Given the description of an element on the screen output the (x, y) to click on. 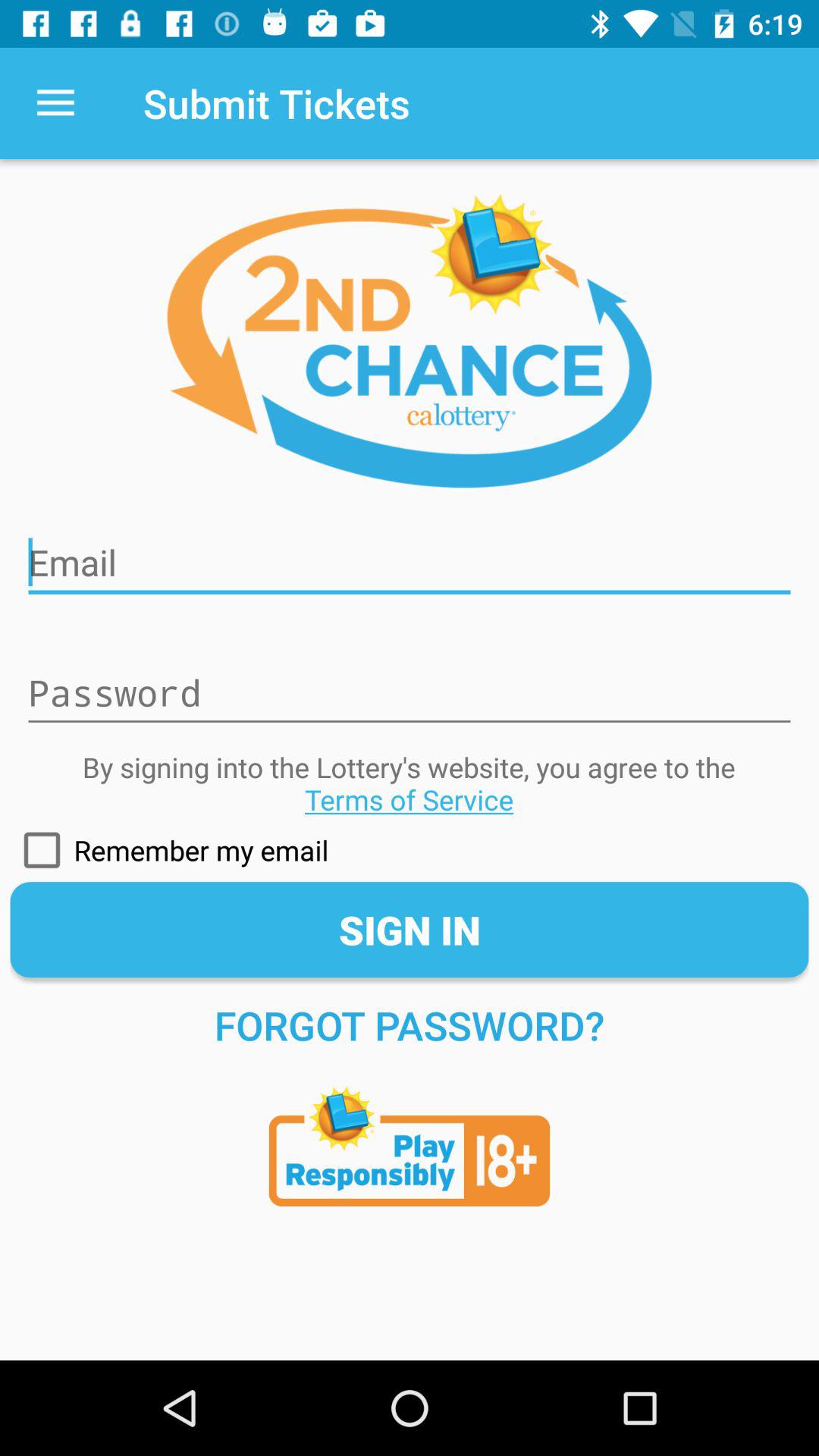
email incorrect (409, 552)
